Given the description of an element on the screen output the (x, y) to click on. 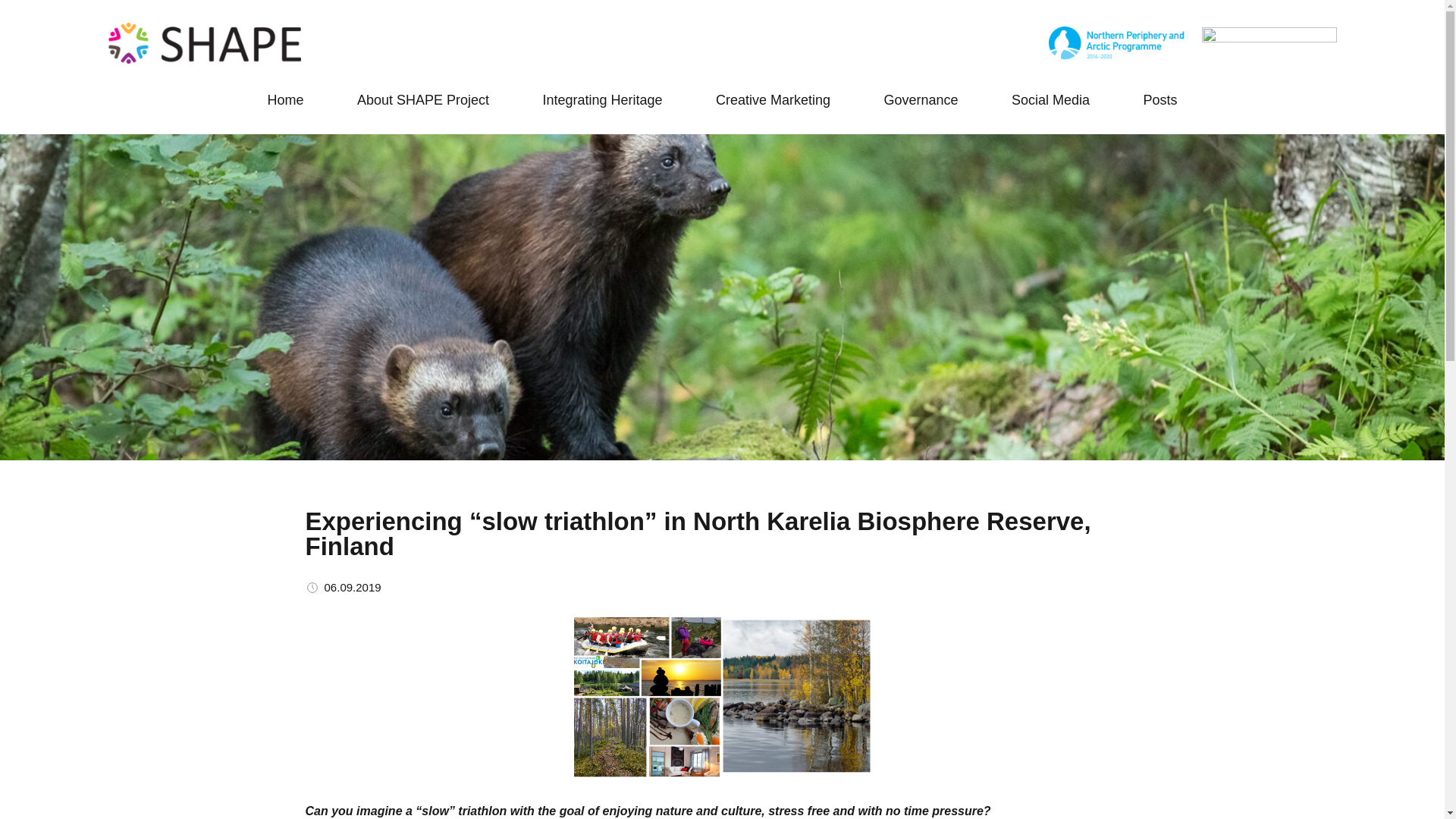
About SHAPE Project (422, 99)
Integrating Heritage (601, 99)
Home (284, 99)
Social Media (1050, 99)
Creative Marketing (772, 99)
Governance (920, 99)
Posts (1159, 99)
